Given the description of an element on the screen output the (x, y) to click on. 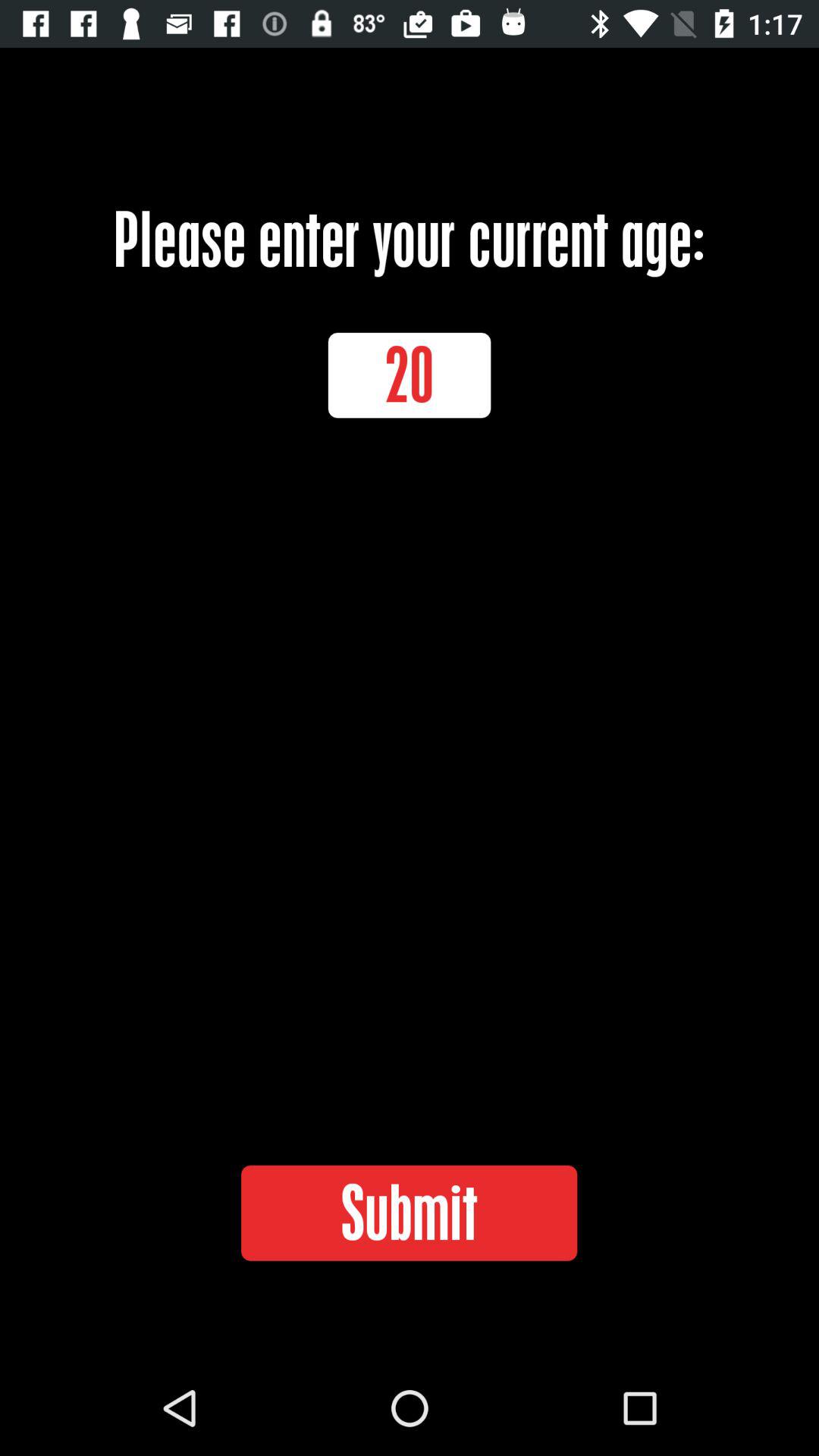
turn on the item above submit icon (409, 375)
